Given the description of an element on the screen output the (x, y) to click on. 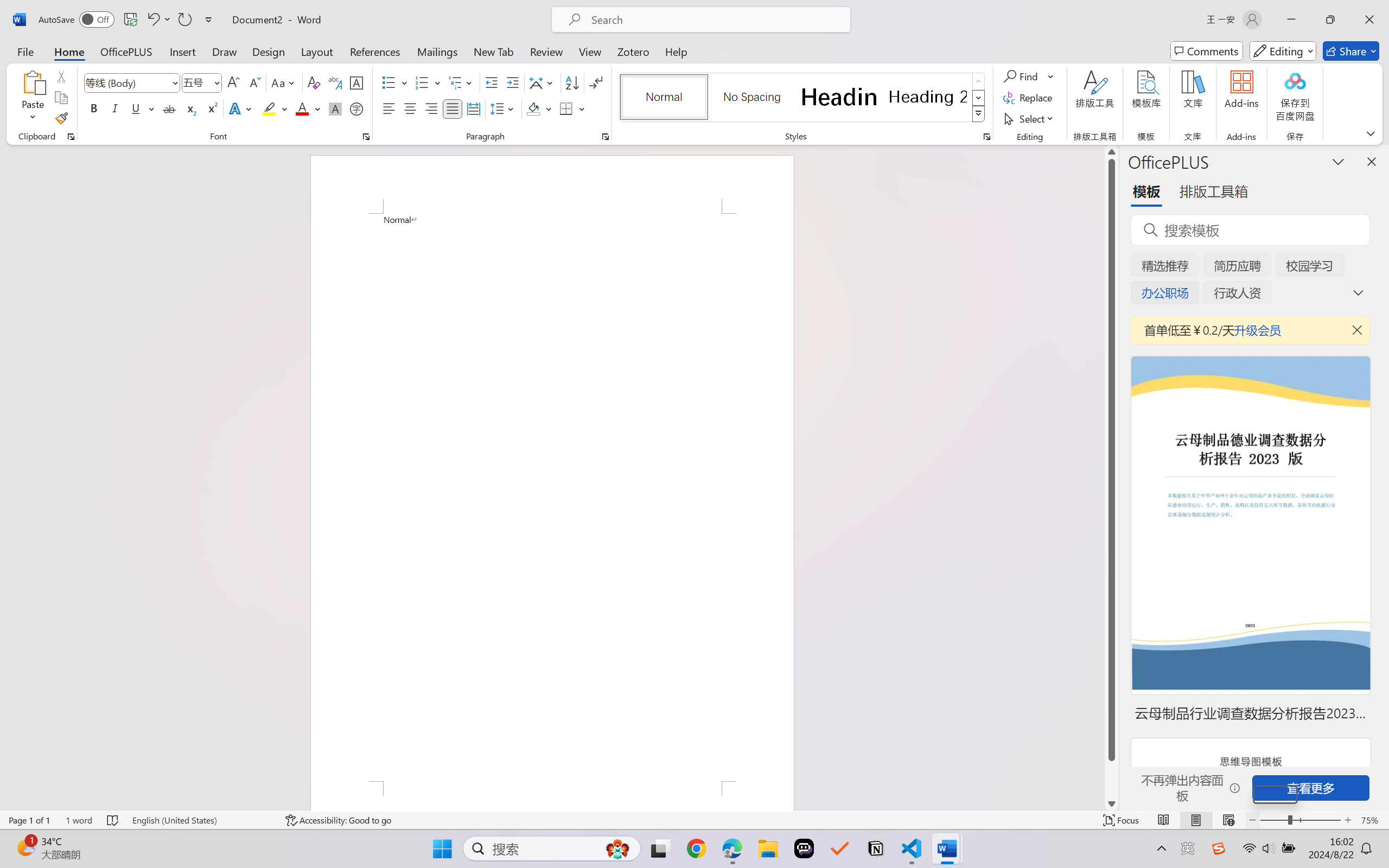
Sort... (571, 82)
Share (1350, 51)
Line up (1111, 151)
Undo Apply Quick Style (158, 19)
Shrink Font (253, 82)
Quick Access Toolbar (127, 19)
Styles (978, 113)
Bold (94, 108)
Row up (978, 81)
Show/Hide Editing Marks (595, 82)
Undo Apply Quick Style (152, 19)
Find (1029, 75)
Underline (142, 108)
